Given the description of an element on the screen output the (x, y) to click on. 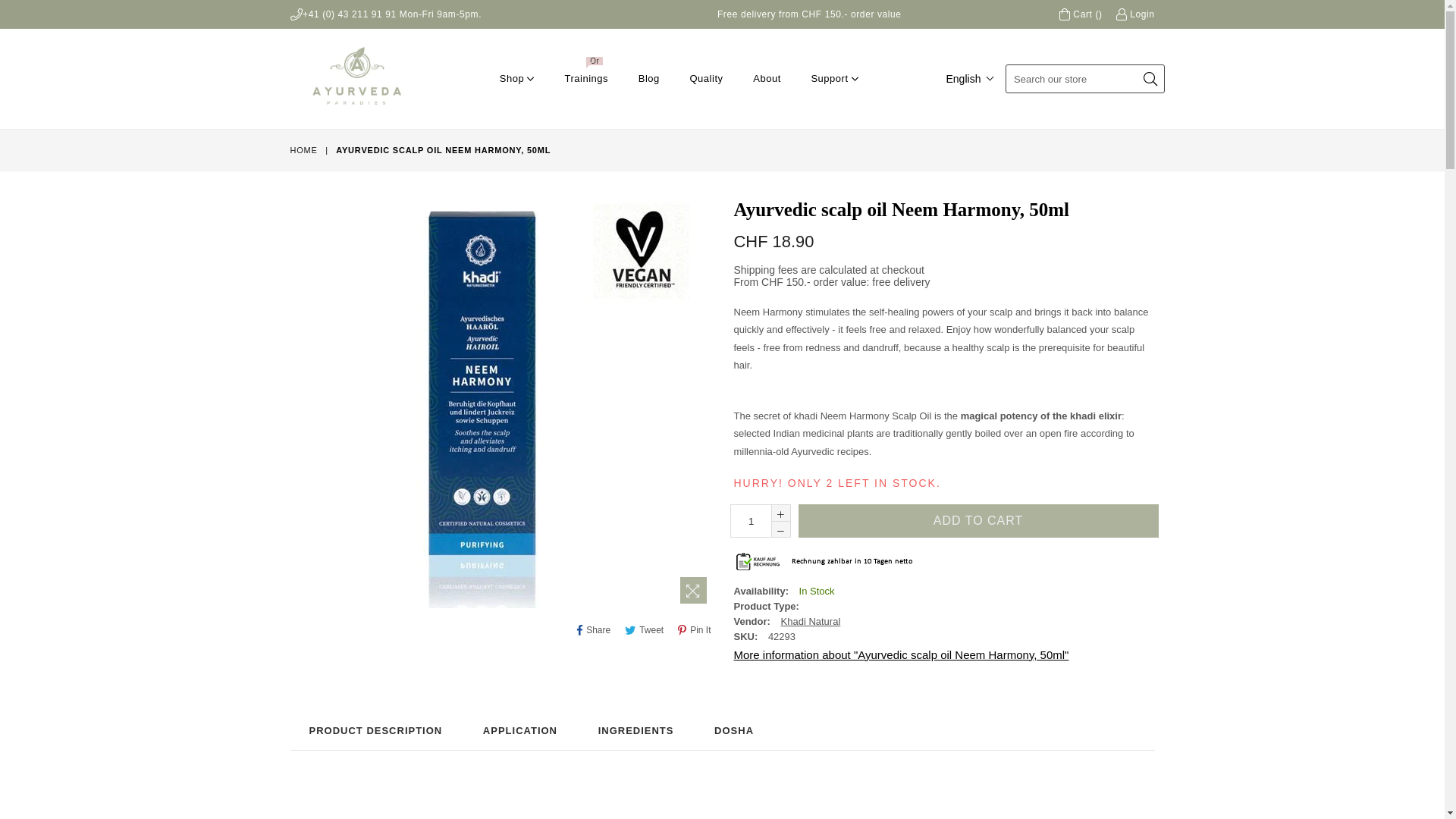
Khadi Natural Element type: text (810, 621)
DOSHA Element type: text (733, 730)
Trainings
Or Element type: text (585, 78)
APPLICATION Element type: text (520, 730)
Quality Element type: text (705, 78)
Login Element type: text (1135, 13)
About Element type: text (766, 78)
Pin It
Pin On Pinterest Element type: text (694, 630)
HOME Element type: text (304, 149)
Share
Share On Facebook Element type: text (593, 630)
Tweet
Tweet On Twitter Element type: text (644, 630)
Support Element type: text (834, 78)
ADD TO CART Element type: text (977, 520)
Cart () Element type: text (1080, 13)
Blog Element type: text (648, 78)
Submit Element type: text (1150, 79)
PRODUCT DESCRIPTION Element type: text (375, 730)
Shop Element type: text (517, 78)
INGREDIENTS Element type: text (636, 730)
